Given the description of an element on the screen output the (x, y) to click on. 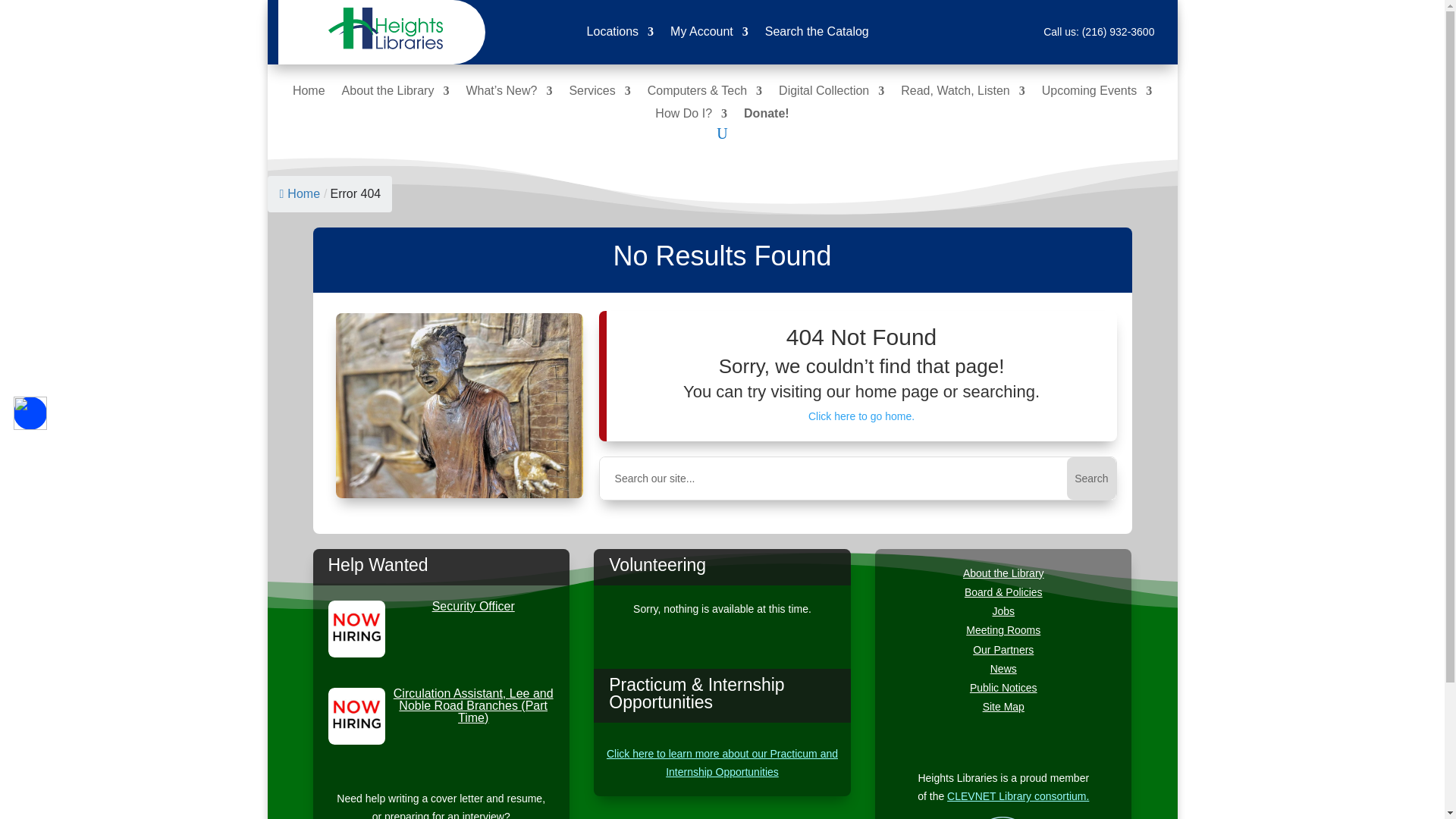
Locations (619, 34)
Accessibility Menu (29, 412)
About the Library (395, 93)
Search (1091, 478)
My Account (708, 34)
harvey-shrug (459, 404)
Search (1091, 478)
Search the Catalog (817, 34)
Home (308, 93)
